Given the description of an element on the screen output the (x, y) to click on. 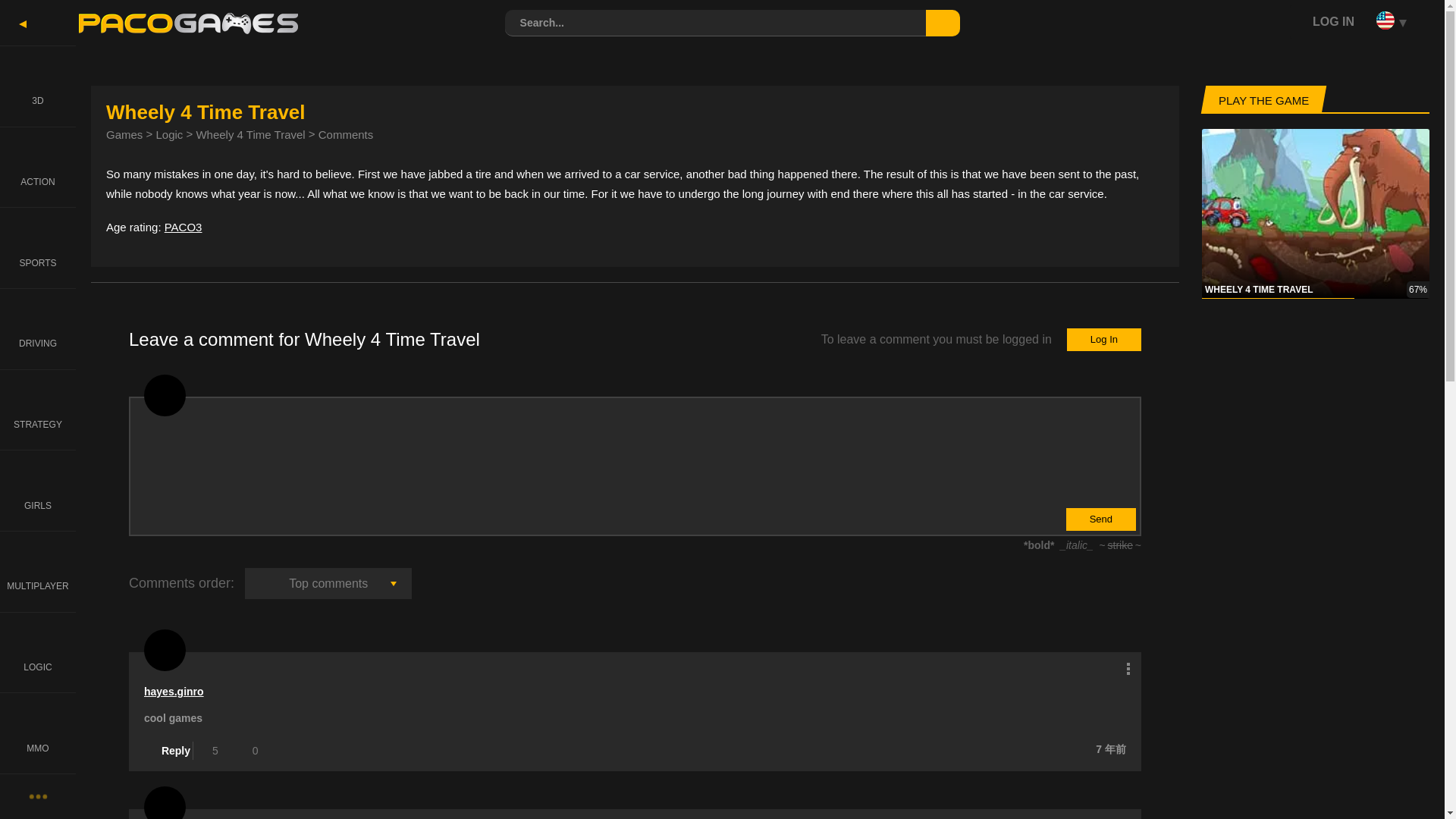
Strategy Games (37, 409)
Show login dialog (1322, 21)
3D Games (37, 85)
MMO (37, 732)
Games For Girls (37, 489)
SPORTS (37, 247)
ACTION (37, 167)
Wheely 4 Time Travel (249, 133)
Logic (169, 133)
Logic Games (37, 651)
